Given the description of an element on the screen output the (x, y) to click on. 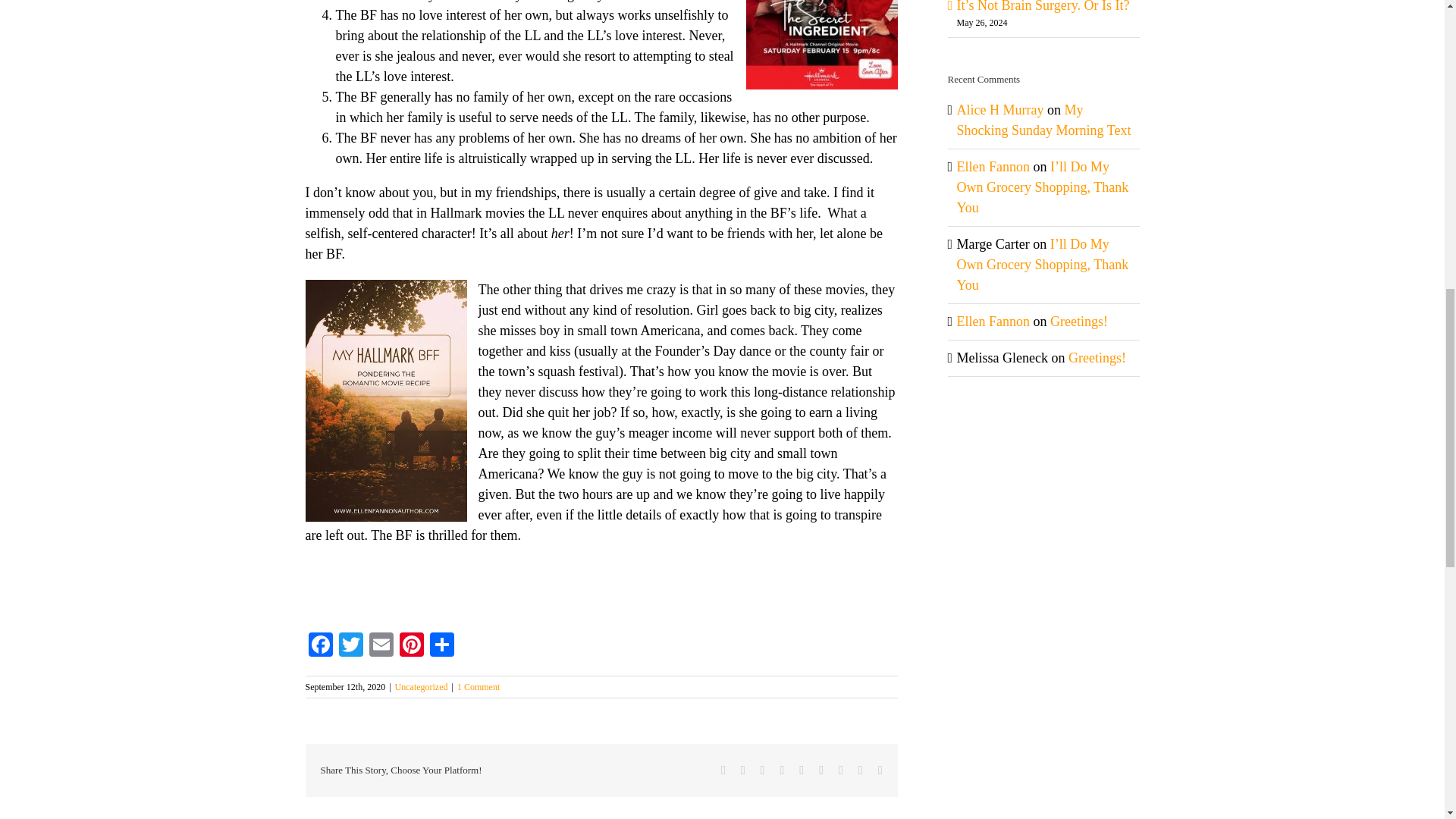
Email (380, 646)
Twitter (349, 646)
Email (380, 646)
Uncategorized (421, 686)
Facebook (319, 646)
1 Comment (478, 686)
Facebook (319, 646)
Pinterest (411, 646)
Pinterest (411, 646)
Twitter (349, 646)
